Given the description of an element on the screen output the (x, y) to click on. 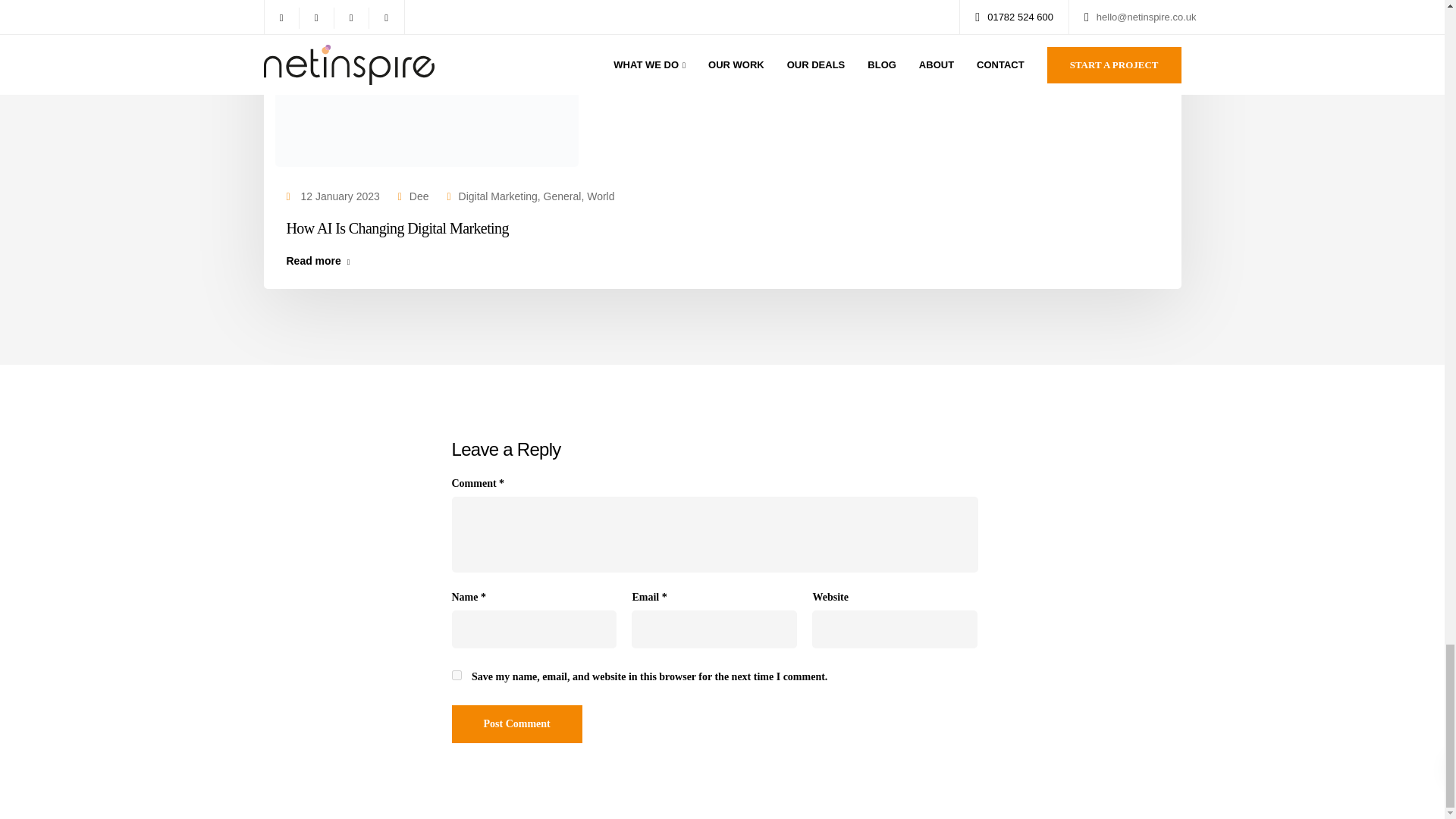
yes (456, 675)
Post Comment (516, 723)
